Given the description of an element on the screen output the (x, y) to click on. 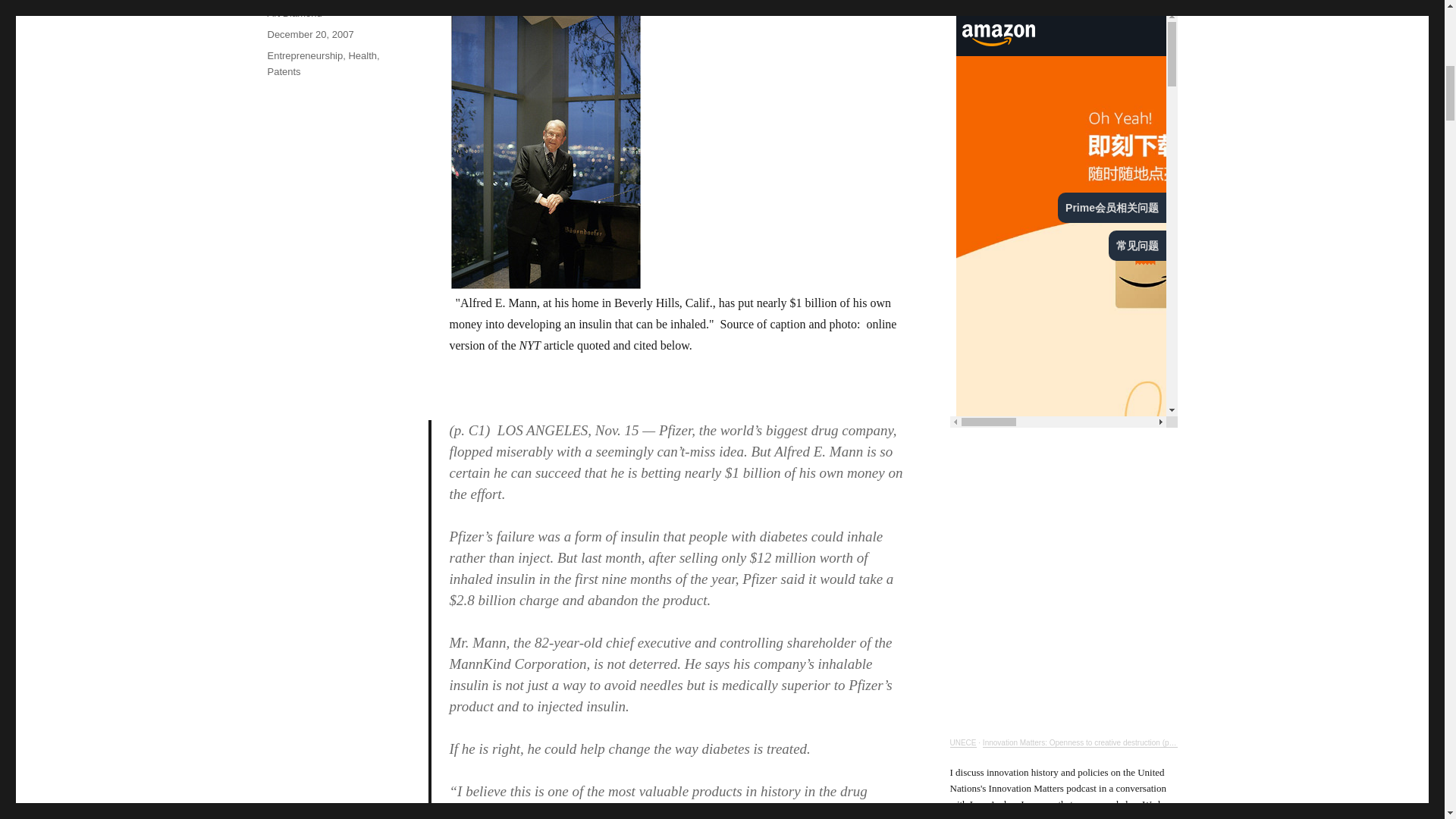
Entrepreneurship (304, 55)
UNECE (962, 742)
December 20, 2007 (309, 34)
UNECE (962, 742)
Health (362, 55)
Patents (282, 71)
Art Diamond (293, 12)
